Given the description of an element on the screen output the (x, y) to click on. 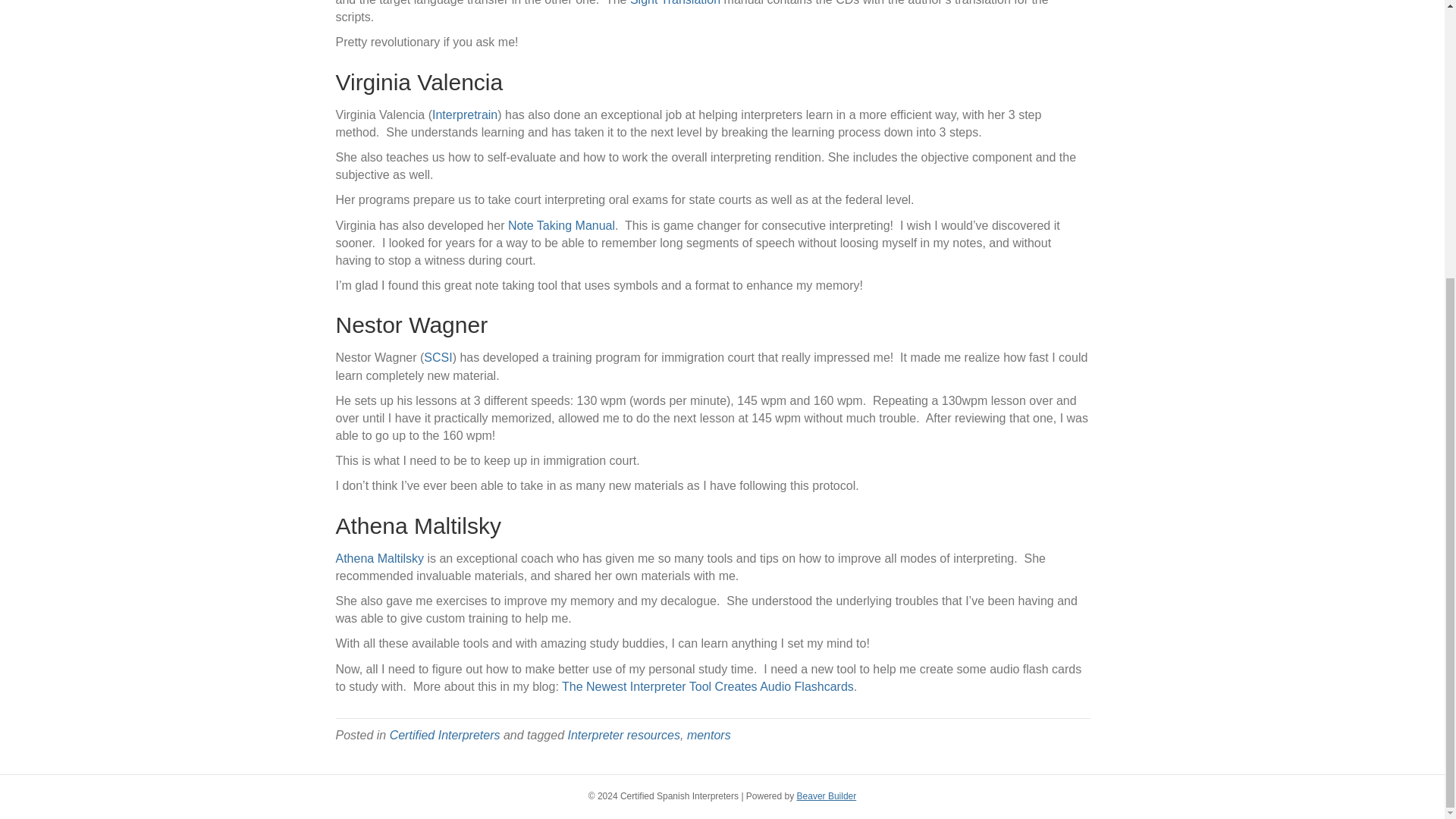
SCSI (437, 357)
Sight Translation (675, 2)
The Newest Interpreter Tool Creates Audio Flashcards (707, 686)
Certified Interpreters (445, 735)
Interpreter resources (623, 735)
Beaver Builder (826, 796)
WordPress Page Builder Plugin (826, 796)
Interpretrain (464, 114)
Athena Maltilsky (378, 558)
Note Taking Manual (558, 225)
mentors (708, 735)
